Given the description of an element on the screen output the (x, y) to click on. 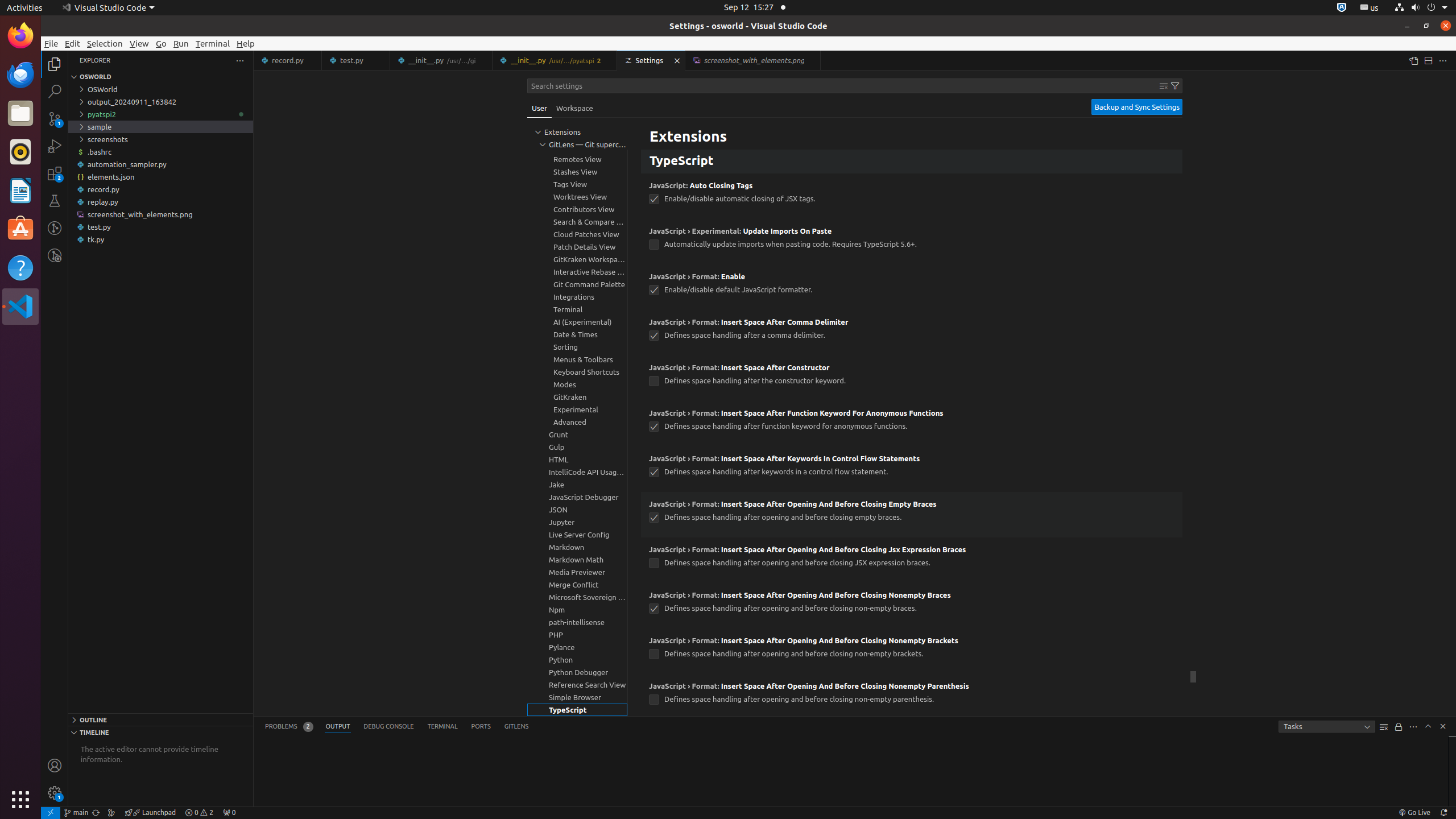
Gulp, group Element type: tree-item (577, 446)
javascript.format.enable Element type: check-box (653, 289)
JavaScript Debugger, group Element type: tree-item (577, 496)
simpleBrowser.focusLockIndicator.enabled Element type: check-box (653, 129)
JSON, group Element type: tree-item (577, 509)
